Given the description of an element on the screen output the (x, y) to click on. 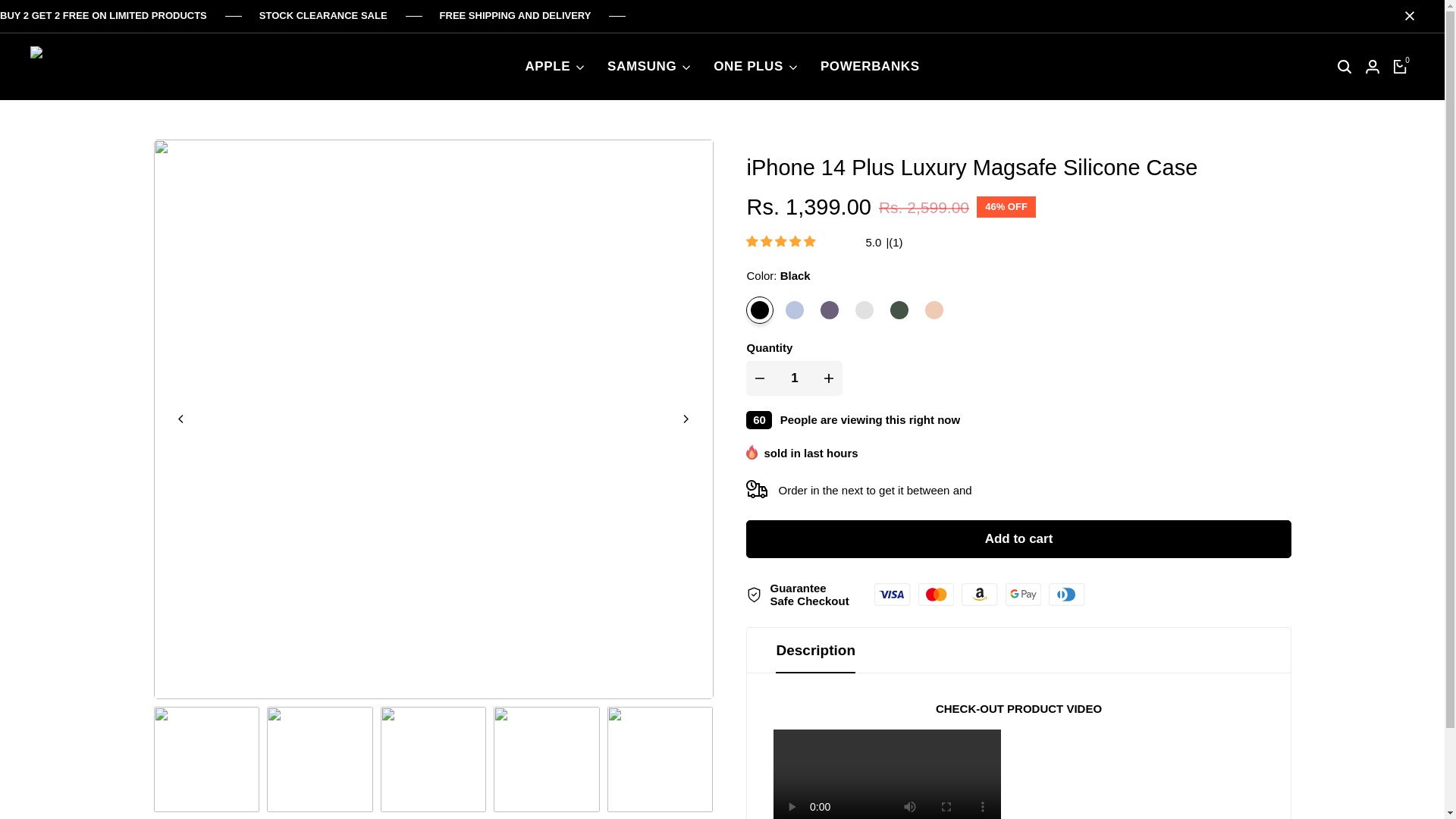
POWERBANKS (870, 66)
1 (794, 378)
Mastercard (935, 594)
Amazon (978, 594)
0 (1399, 66)
Diners Club (1066, 594)
Skip to content (7, 3)
Google Pay (1023, 594)
Description (1018, 650)
